Given the description of an element on the screen output the (x, y) to click on. 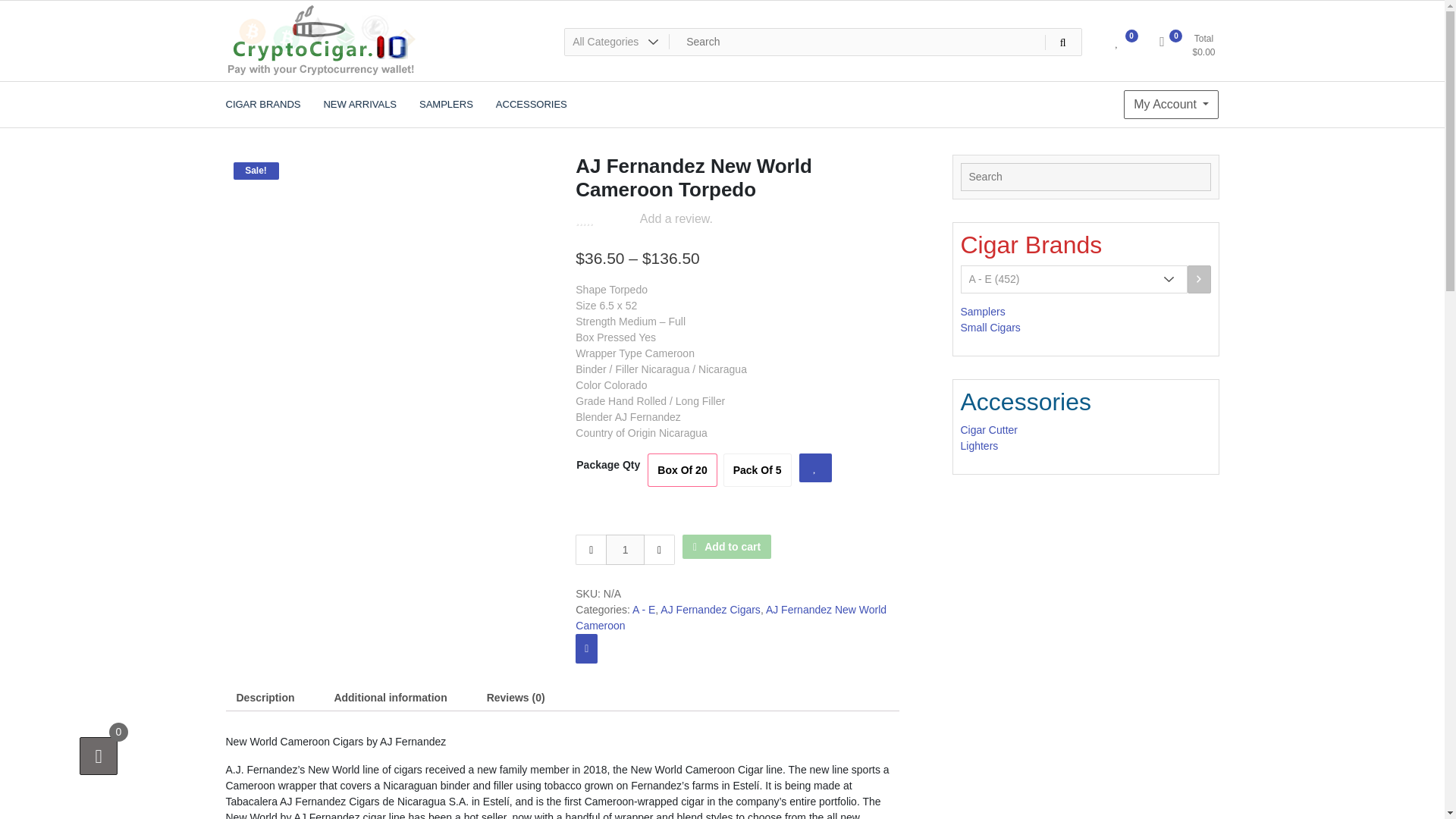
No Review (604, 220)
ACCESSORIES (531, 104)
Add To Wishlist (815, 467)
Box Of 20 (681, 469)
AJ Fernandez Cigars (710, 609)
NEW ARRIVALS (359, 104)
Search for: (822, 41)
My Account (1171, 104)
Description (265, 697)
A - E (643, 609)
